Given the description of an element on the screen output the (x, y) to click on. 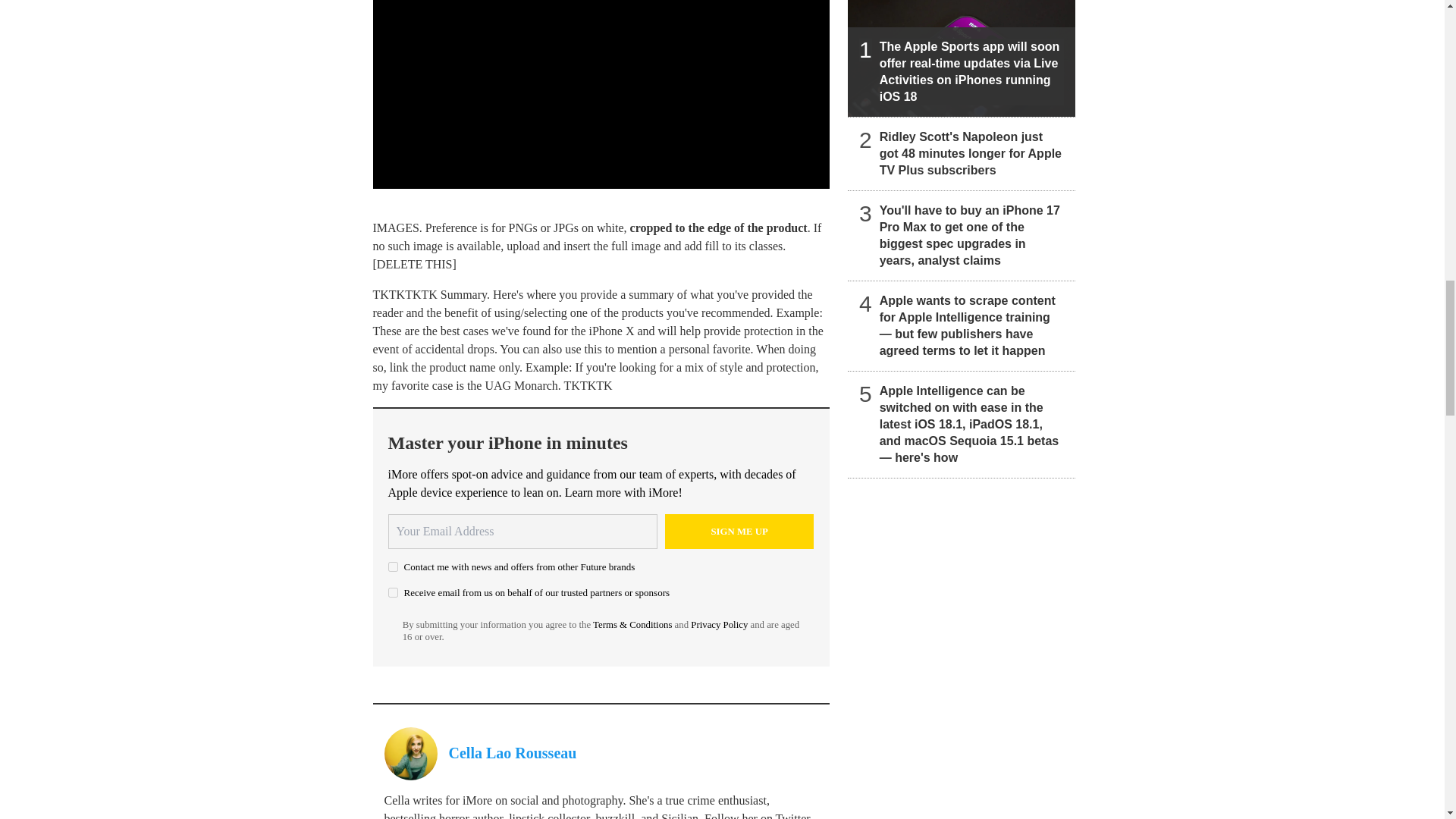
on (392, 592)
Sign me up (739, 531)
on (392, 566)
